Given the description of an element on the screen output the (x, y) to click on. 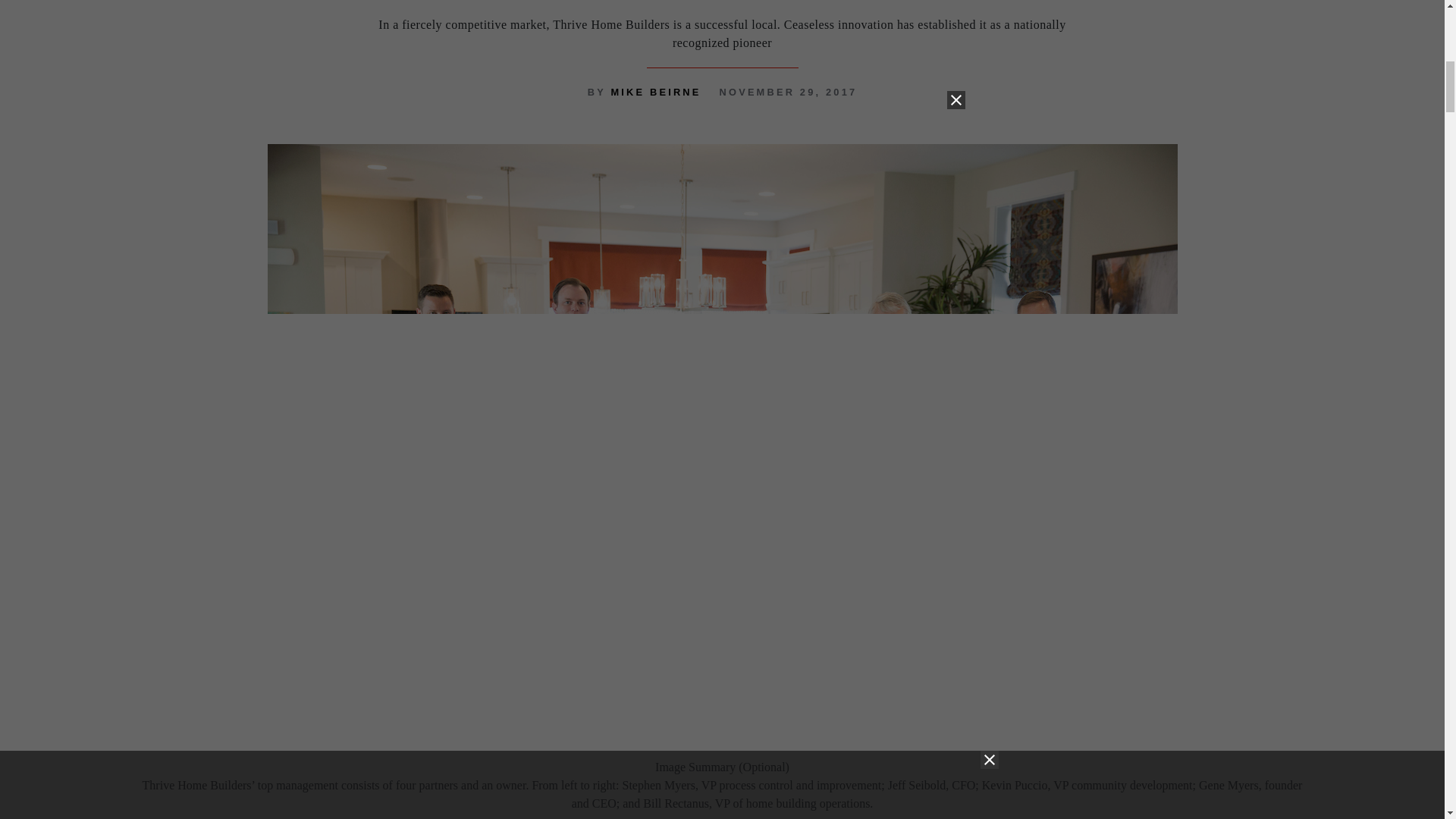
Wednesday, November 29, 2017 - 05:00 (788, 91)
MIKE BEIRNE (655, 91)
